Given the description of an element on the screen output the (x, y) to click on. 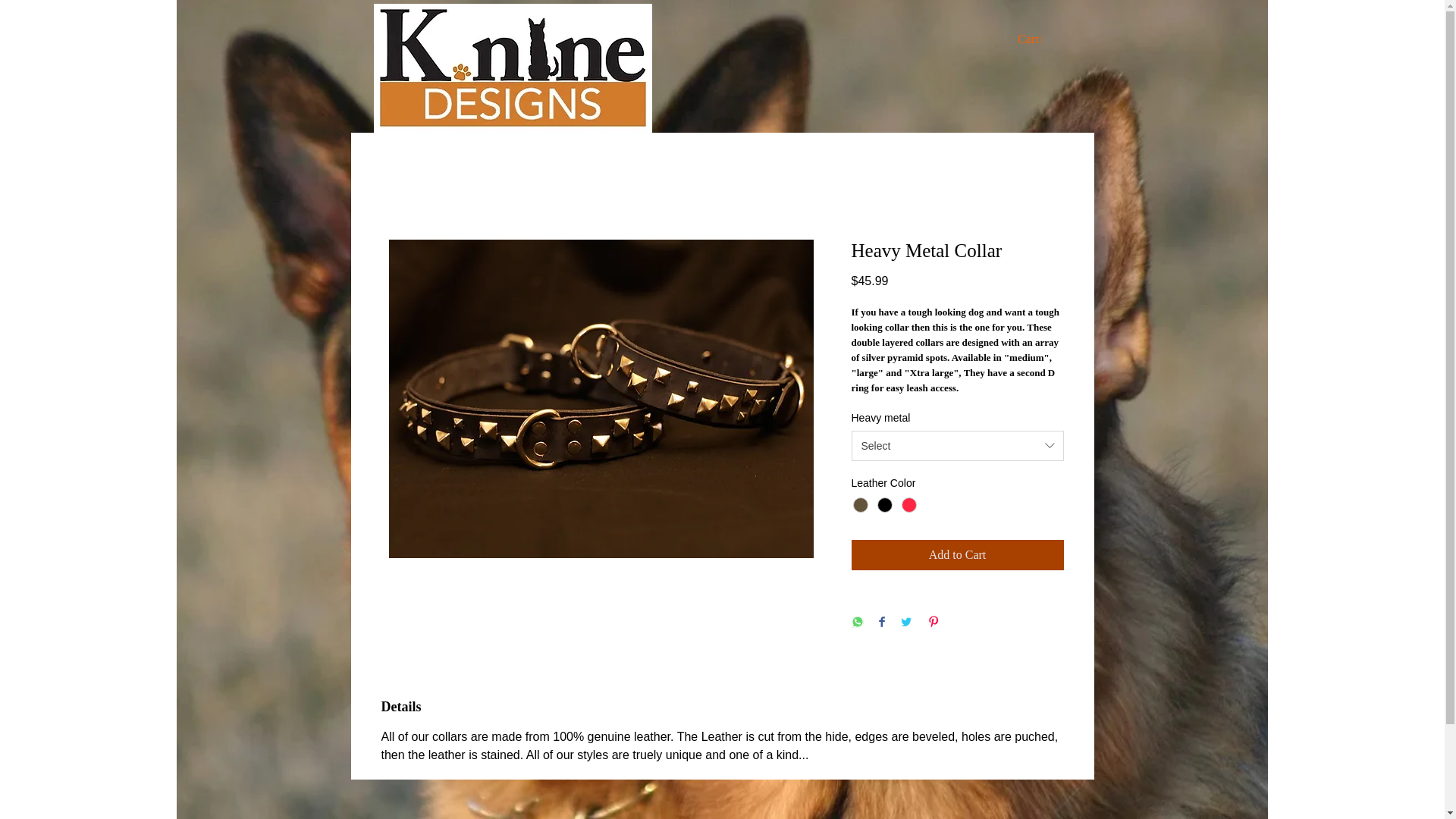
Cart: (1039, 38)
Facebook Like (913, 44)
Cart: (1039, 38)
Select (956, 445)
Add to Cart (956, 554)
